Given the description of an element on the screen output the (x, y) to click on. 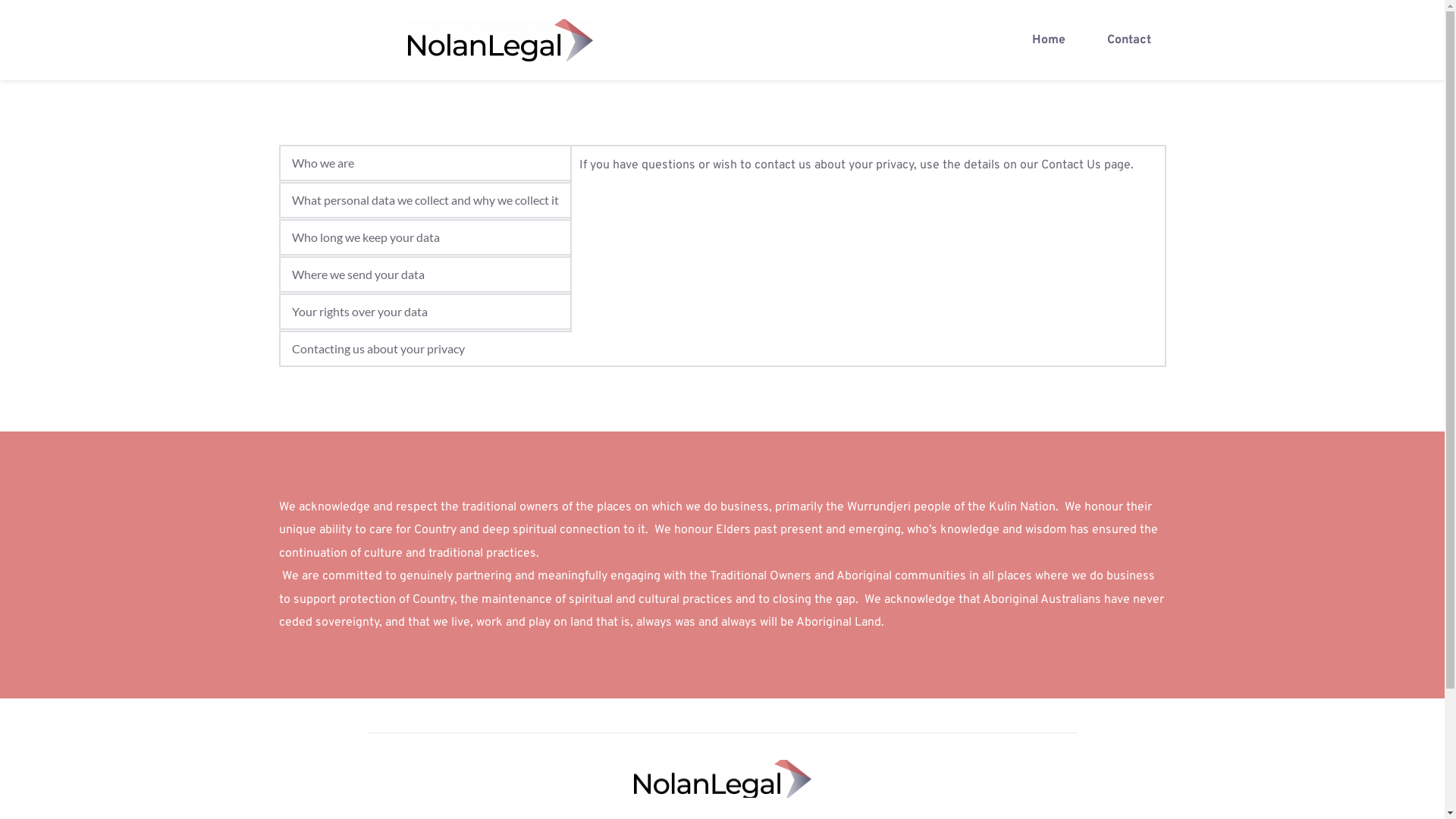
Contact Element type: text (1128, 40)
Home Element type: text (1048, 40)
